Given the description of an element on the screen output the (x, y) to click on. 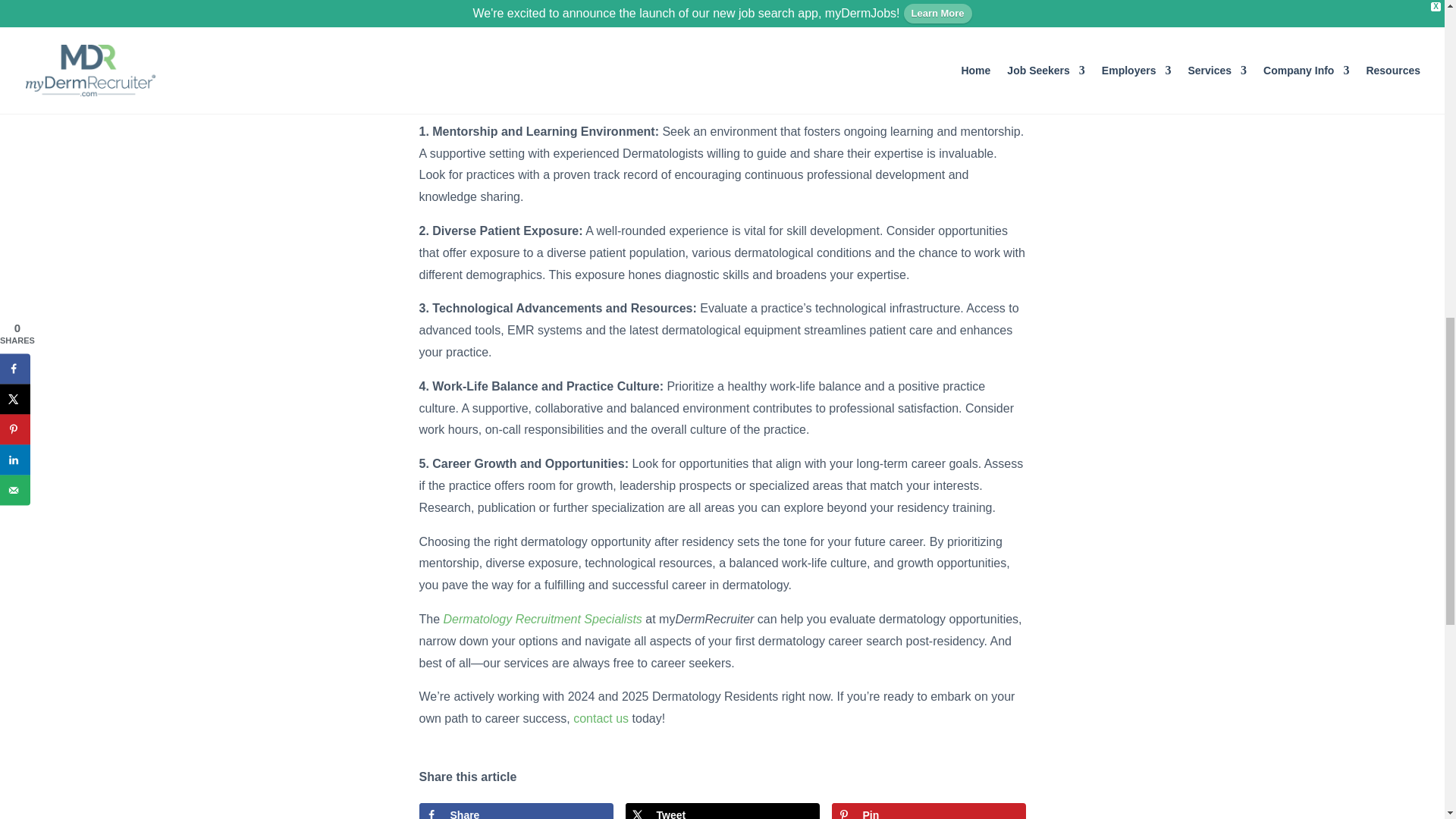
Share on Facebook (515, 811)
Save to Pinterest (928, 811)
Share on X (721, 811)
